Given the description of an element on the screen output the (x, y) to click on. 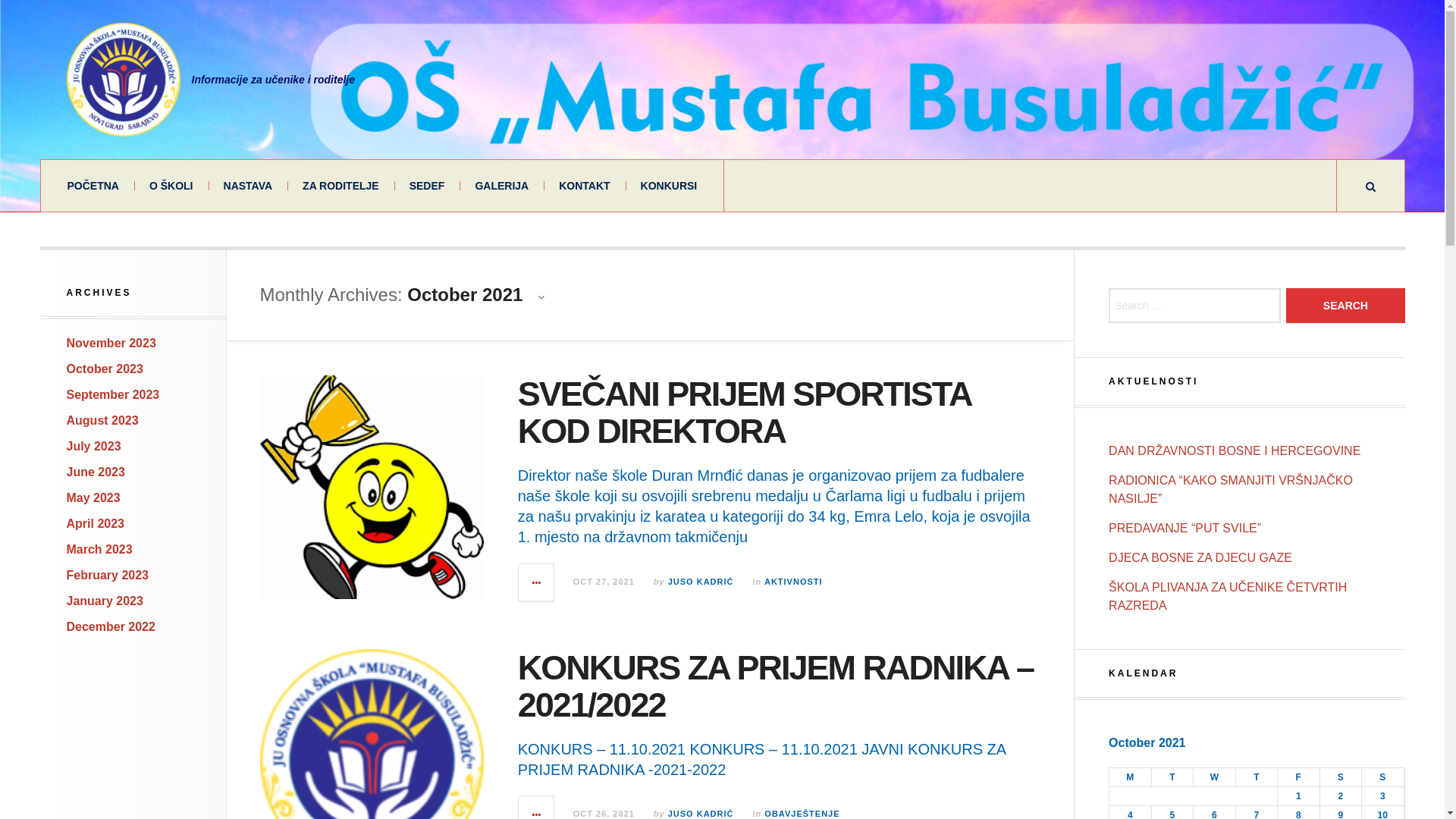
ZA RODITELJE Element type: text (340, 185)
November 2023 Element type: text (111, 342)
March 2023 Element type: text (99, 548)
DJECA BOSNE ZA DJECU GAZE Element type: text (1200, 557)
AKTIVNOSTI Element type: text (793, 581)
Read More... Element type: hover (536, 582)
September 2023 Element type: text (113, 394)
SEDEF Element type: text (427, 185)
February 2023 Element type: text (107, 574)
June 2023 Element type: text (95, 471)
KONKURSI Element type: text (668, 185)
October 2023 Element type: text (104, 368)
GALERIJA Element type: text (501, 185)
August 2023 Element type: text (102, 420)
December 2022 Element type: text (110, 626)
July 2023 Element type: text (93, 445)
Search Element type: text (1345, 305)
May 2023 Element type: text (93, 497)
January 2023 Element type: text (104, 600)
KONTAKT Element type: text (583, 185)
NASTAVA Element type: text (248, 185)
April 2023 Element type: text (95, 523)
